Given the description of an element on the screen output the (x, y) to click on. 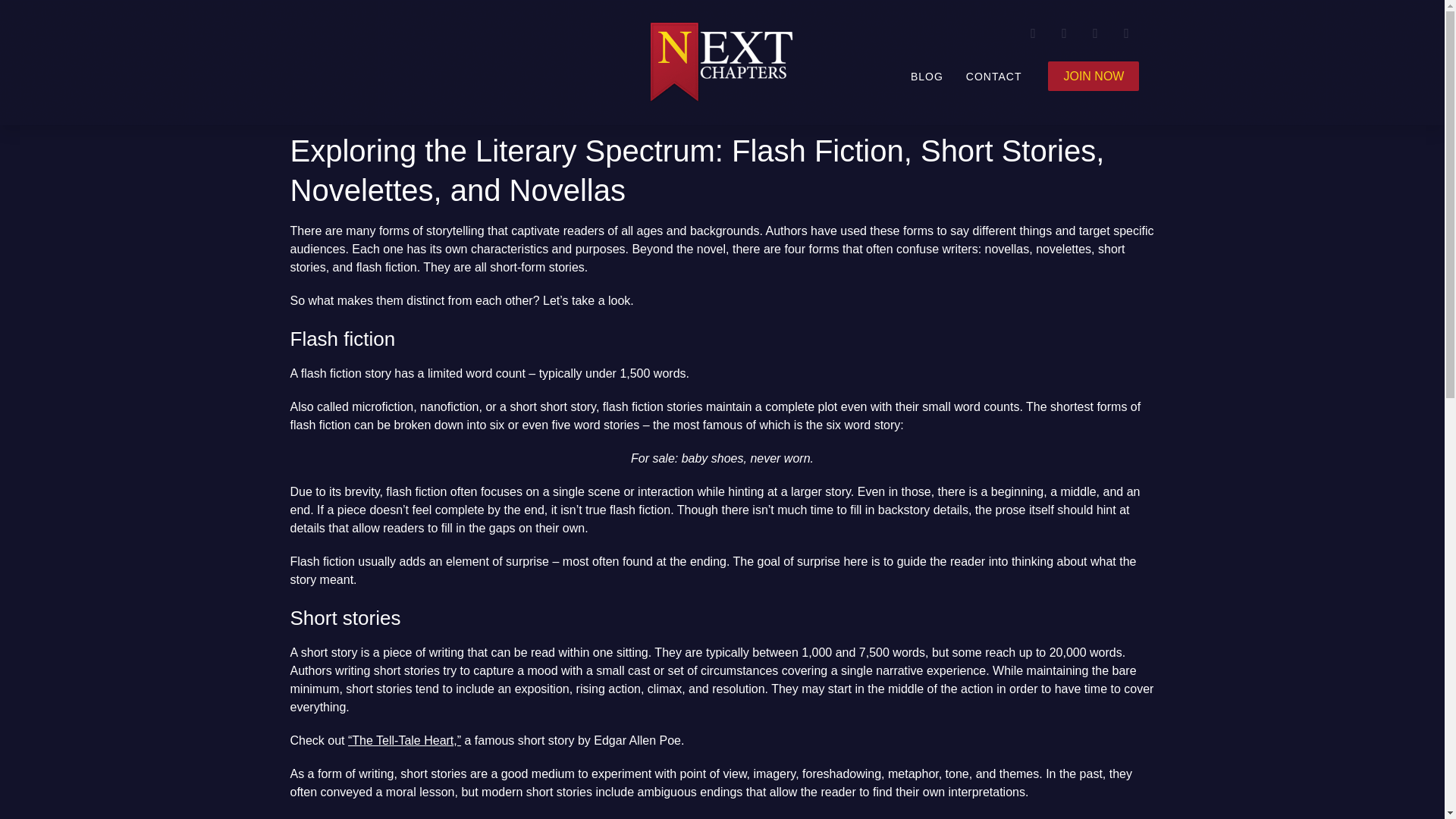
JOIN NOW (1093, 75)
CONTACT (994, 75)
BLOG (927, 75)
